Given the description of an element on the screen output the (x, y) to click on. 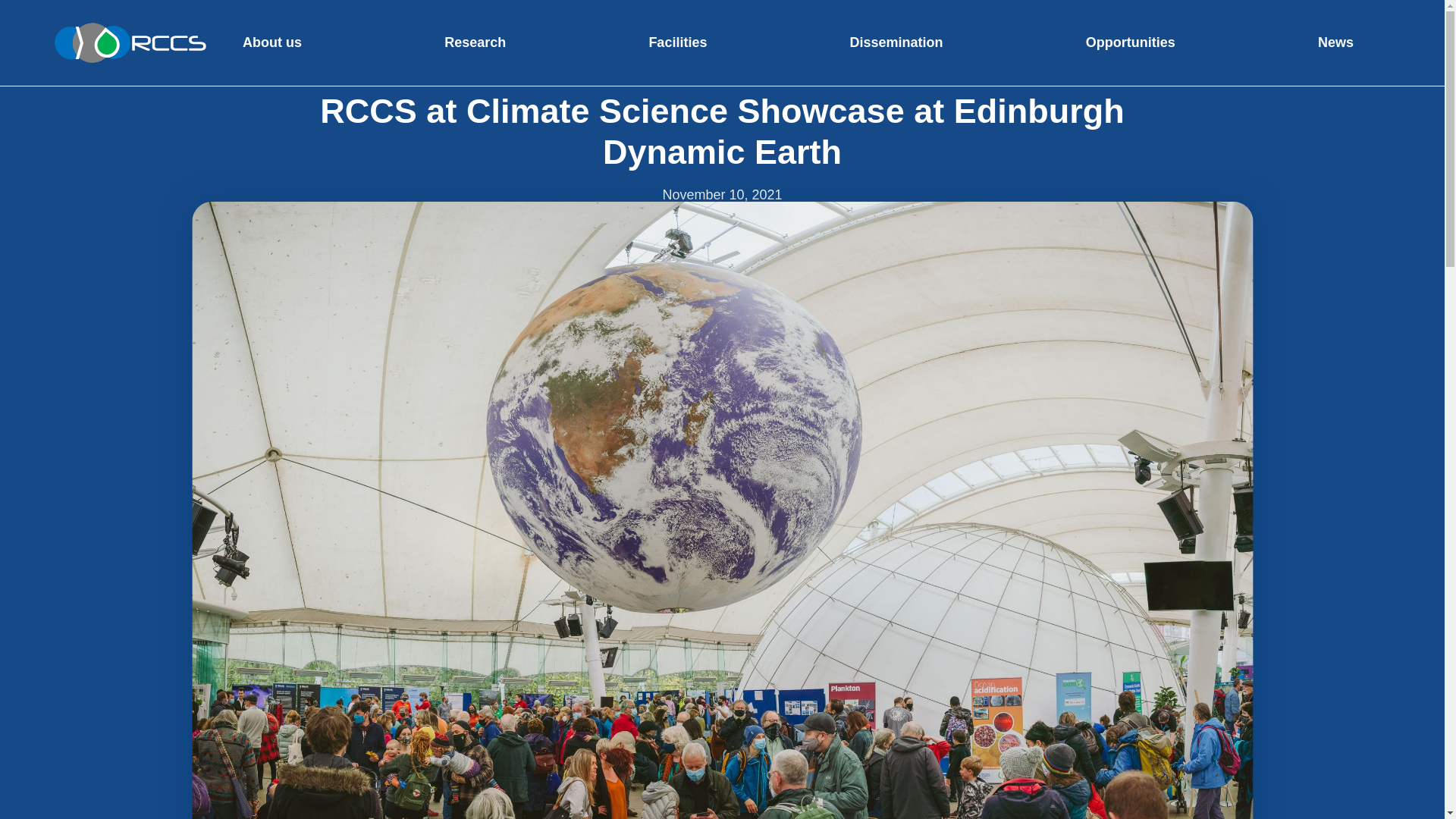
About us (272, 42)
News (1335, 42)
Facilities (676, 42)
Opportunities (1130, 42)
Dissemination (896, 42)
Research (474, 42)
